Given the description of an element on the screen output the (x, y) to click on. 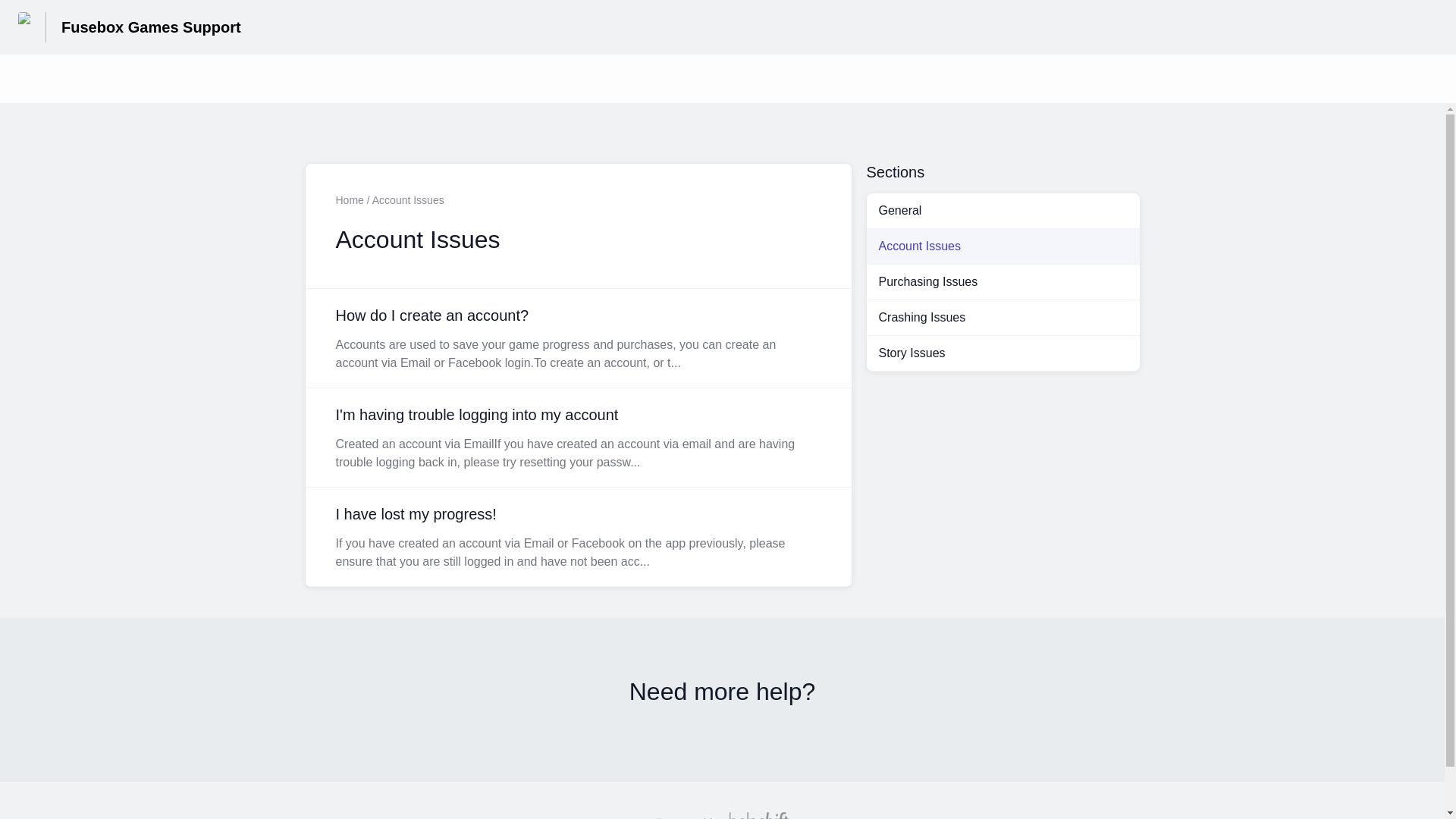
I have lost my progress! (577, 537)
Account Issues (1002, 246)
How do I create an account? (577, 338)
Fusebox Games Support (151, 27)
Home (348, 200)
General (1002, 210)
Crashing Issues (1002, 317)
Purchasing Issues (1002, 281)
Story Issues (1002, 353)
I'm having trouble logging into my account (577, 437)
